Given the description of an element on the screen output the (x, y) to click on. 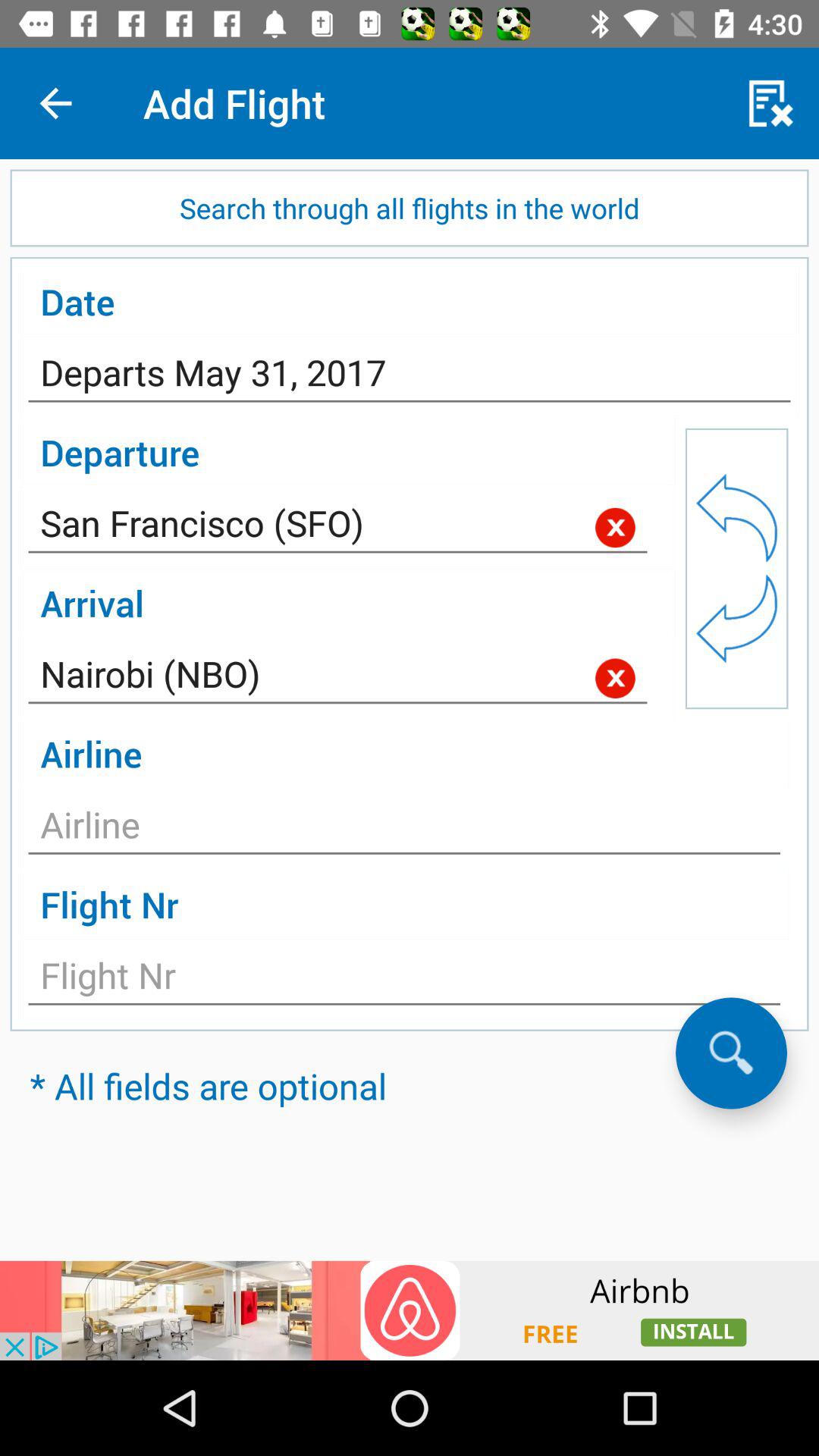
search the article (731, 1053)
